Given the description of an element on the screen output the (x, y) to click on. 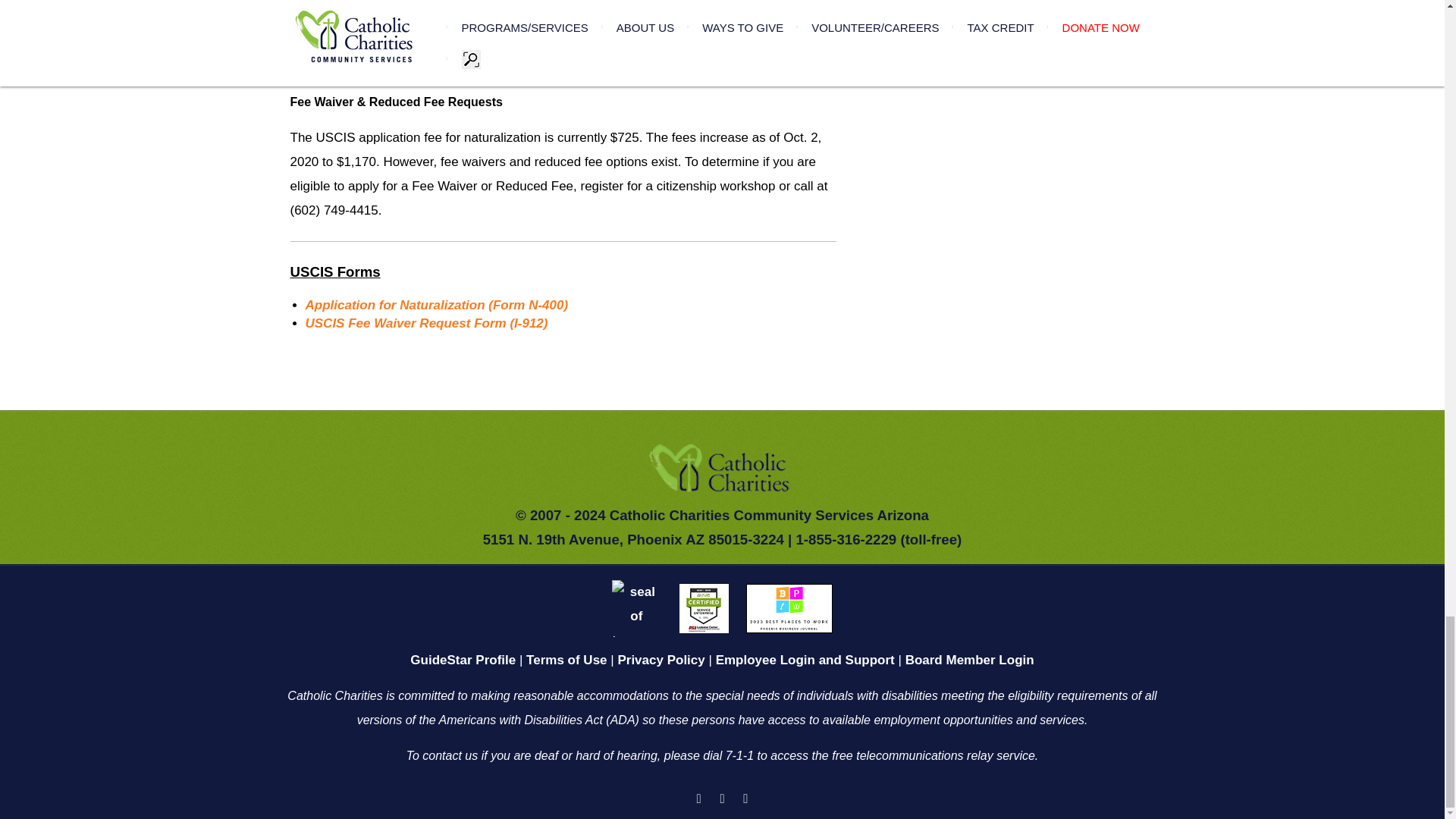
Employee Login and Support (805, 659)
Service Enterprise Certification (704, 607)
Catholic Charities GuideStar Profile (462, 659)
Privacy Policy (660, 659)
2019 Silver GuideStar Seal of Transparency (636, 607)
Form I-912 (425, 323)
Form N-400 (435, 305)
Terms of Use (566, 659)
Board Member Login (969, 659)
